Given the description of an element on the screen output the (x, y) to click on. 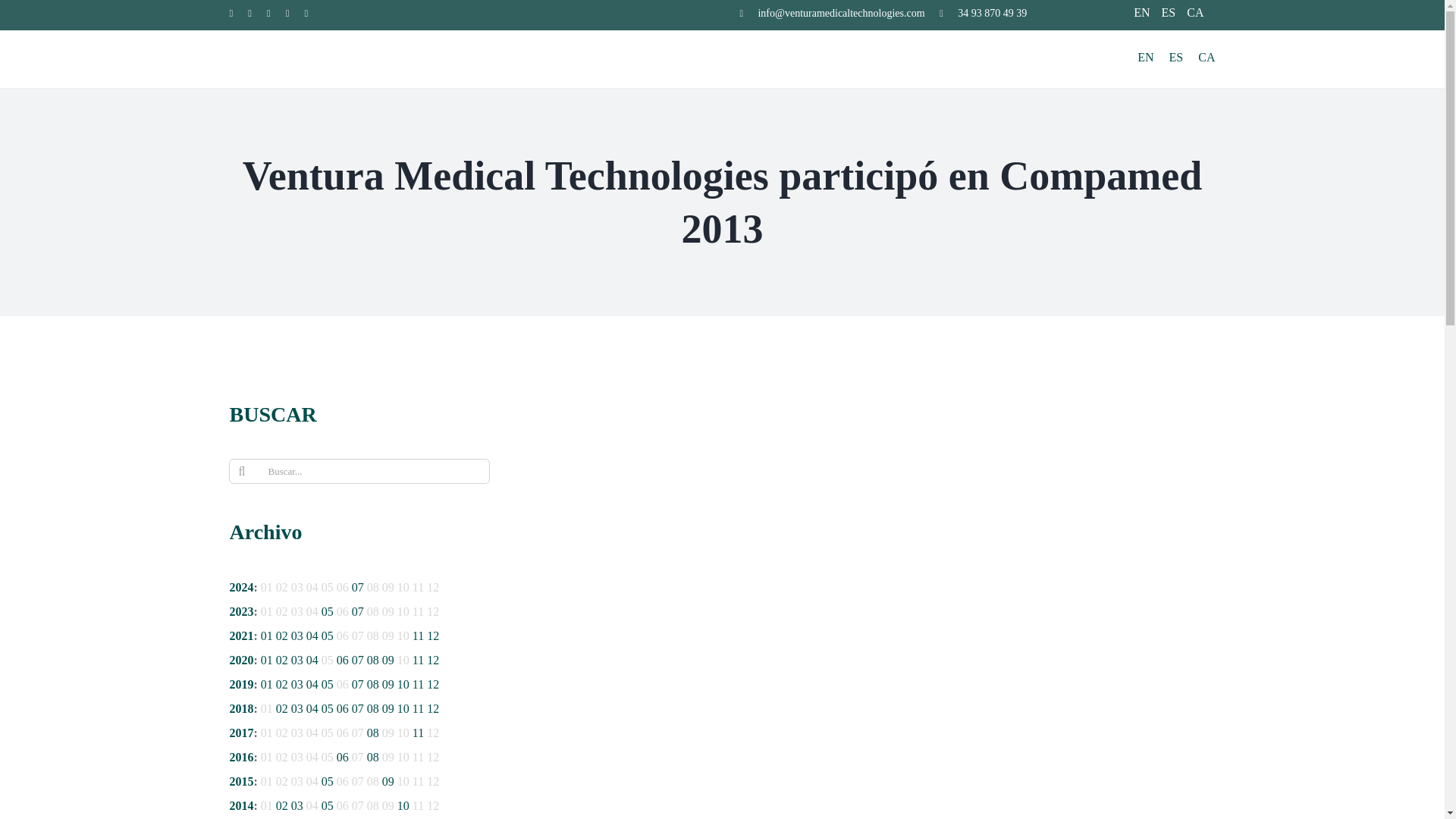
julio 2023 (358, 611)
julio 2024 (358, 586)
mayo 2023 (327, 611)
mayo 2021 (327, 635)
enero 2021 (266, 635)
abril 2021 (311, 635)
marzo 2021 (296, 635)
febrero 2021 (282, 635)
